Given the description of an element on the screen output the (x, y) to click on. 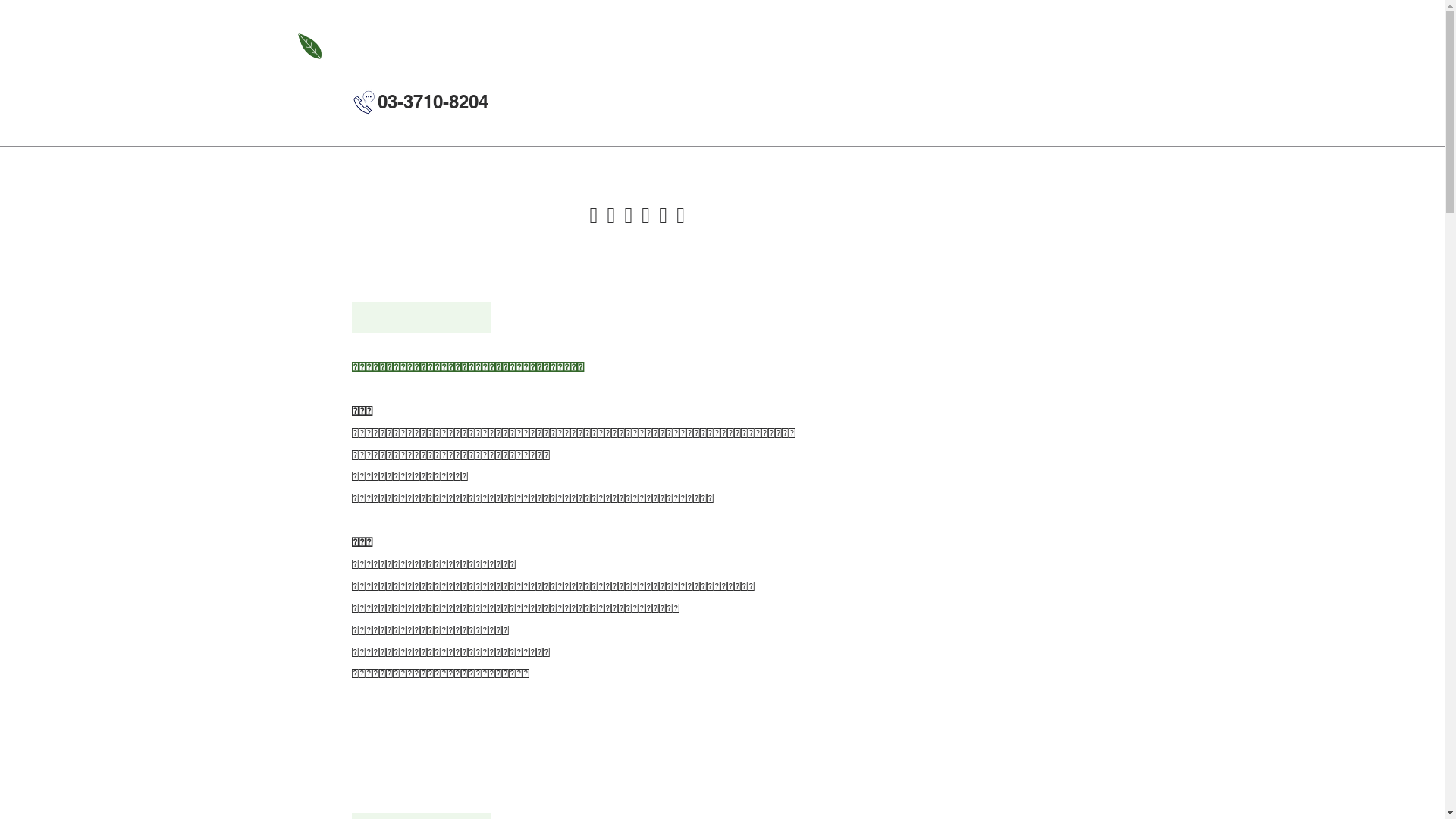
03-3710-8204 Element type: text (432, 101)
